Given the description of an element on the screen output the (x, y) to click on. 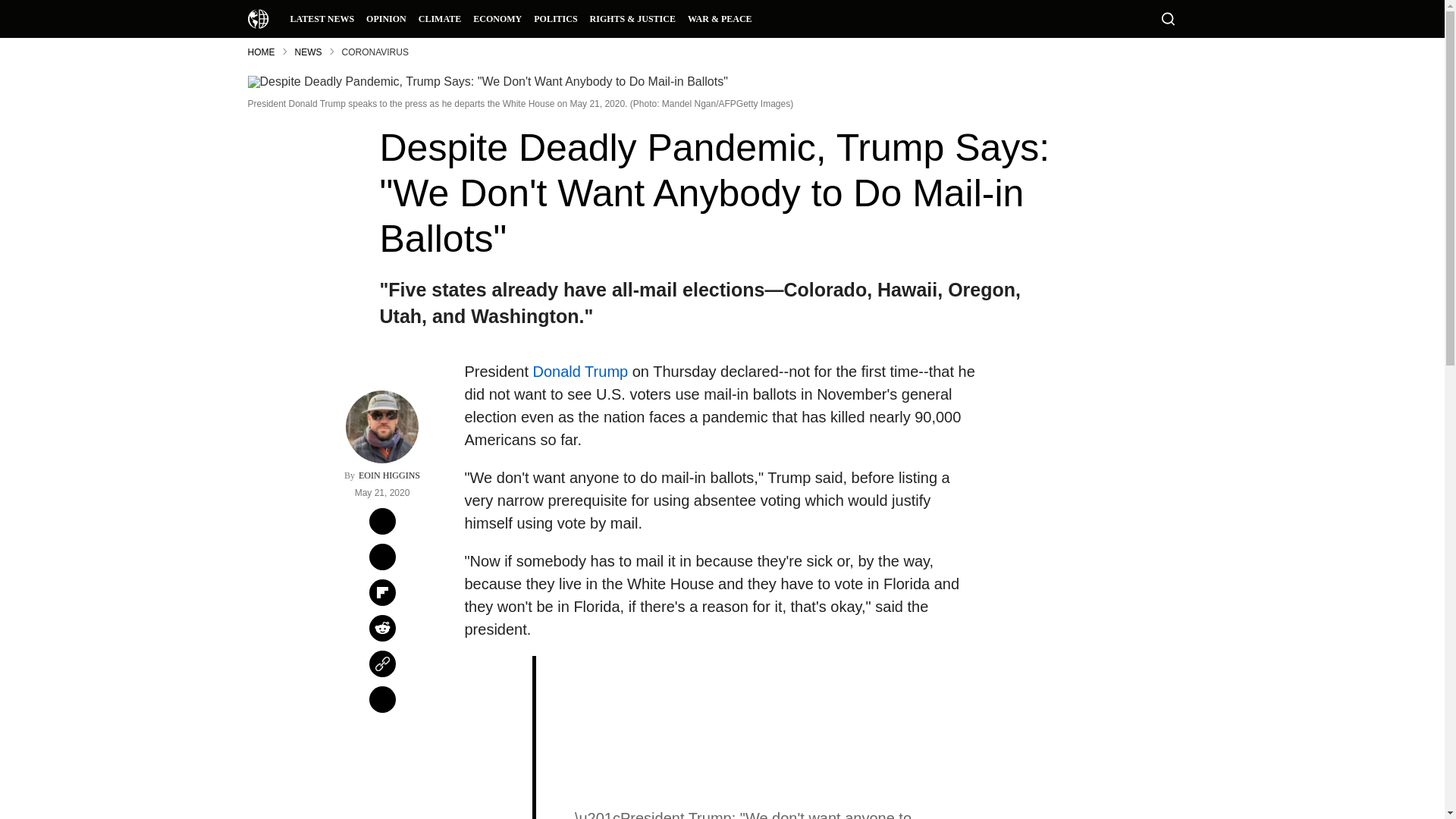
Copy this link to clipboard (382, 663)
Common Dreams (257, 17)
